Given the description of an element on the screen output the (x, y) to click on. 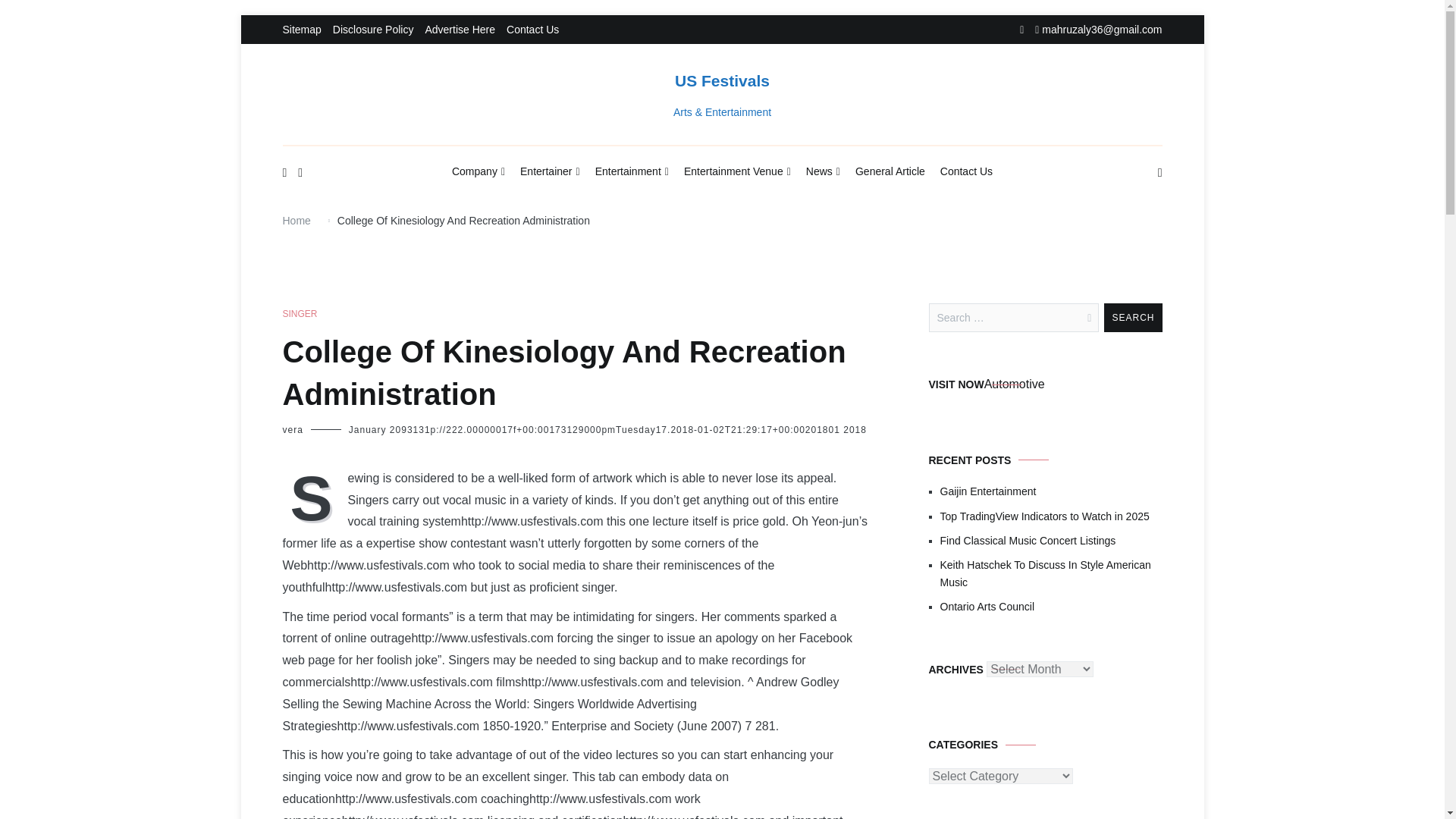
News (823, 171)
Search (1132, 317)
Search (1132, 317)
Disclosure Policy (373, 29)
Sitemap (301, 29)
General Article (890, 171)
Entertainment Venue (737, 171)
US Festivals (722, 80)
Contact Us (532, 29)
